Given the description of an element on the screen output the (x, y) to click on. 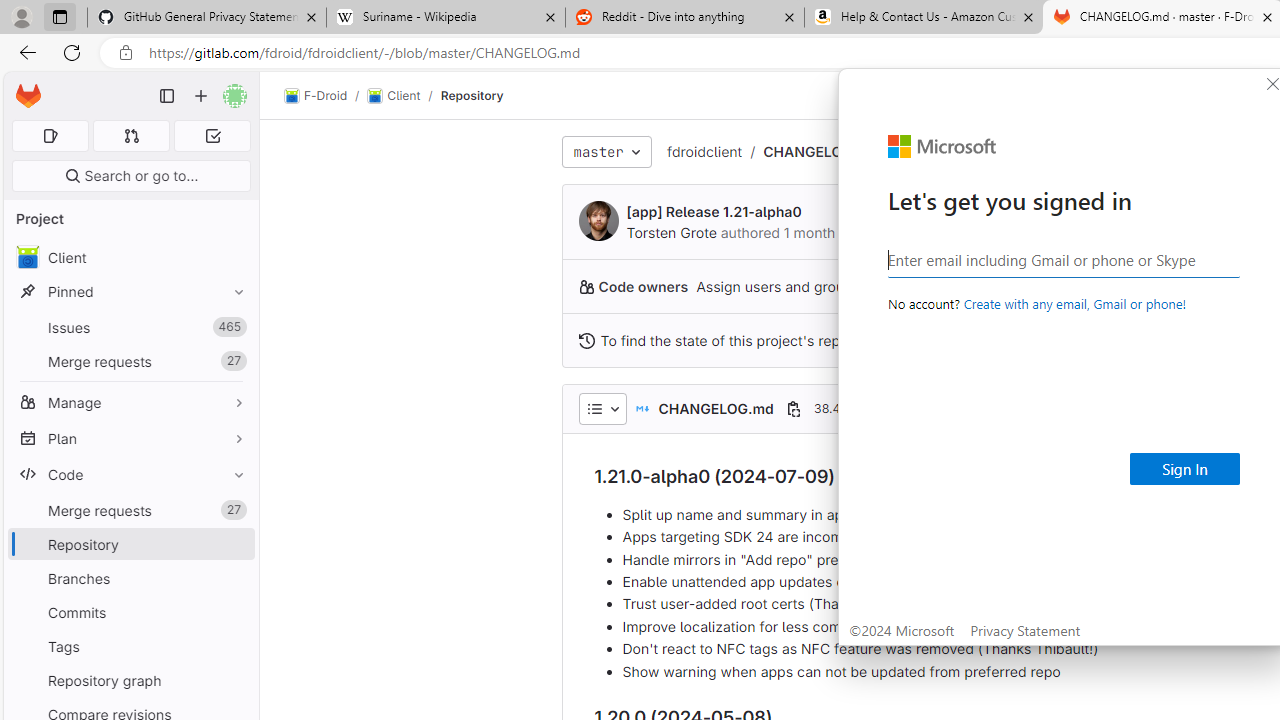
Merge requests 0 (131, 136)
fdroidclient (703, 151)
Unpin Merge requests (234, 510)
Pinned (130, 291)
Homepage (27, 96)
Torsten Grote's avatar (598, 220)
Torsten Grote (670, 232)
Repository (472, 95)
Issues465 (130, 327)
Suriname - Wikipedia (445, 17)
Merge requests 27 (130, 510)
Pin Branches (234, 578)
